Given the description of an element on the screen output the (x, y) to click on. 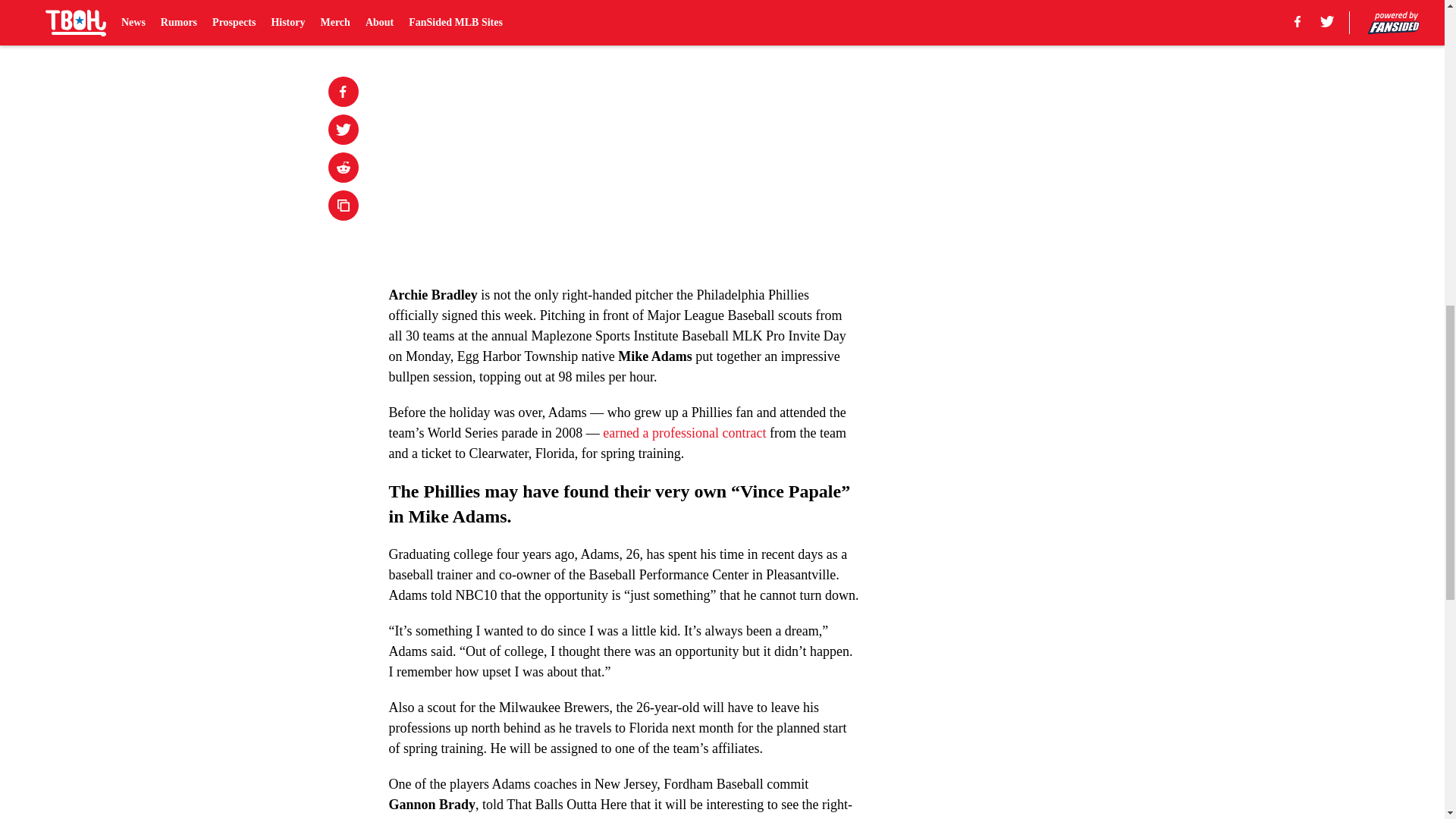
earned a professional contract (683, 432)
